Given the description of an element on the screen output the (x, y) to click on. 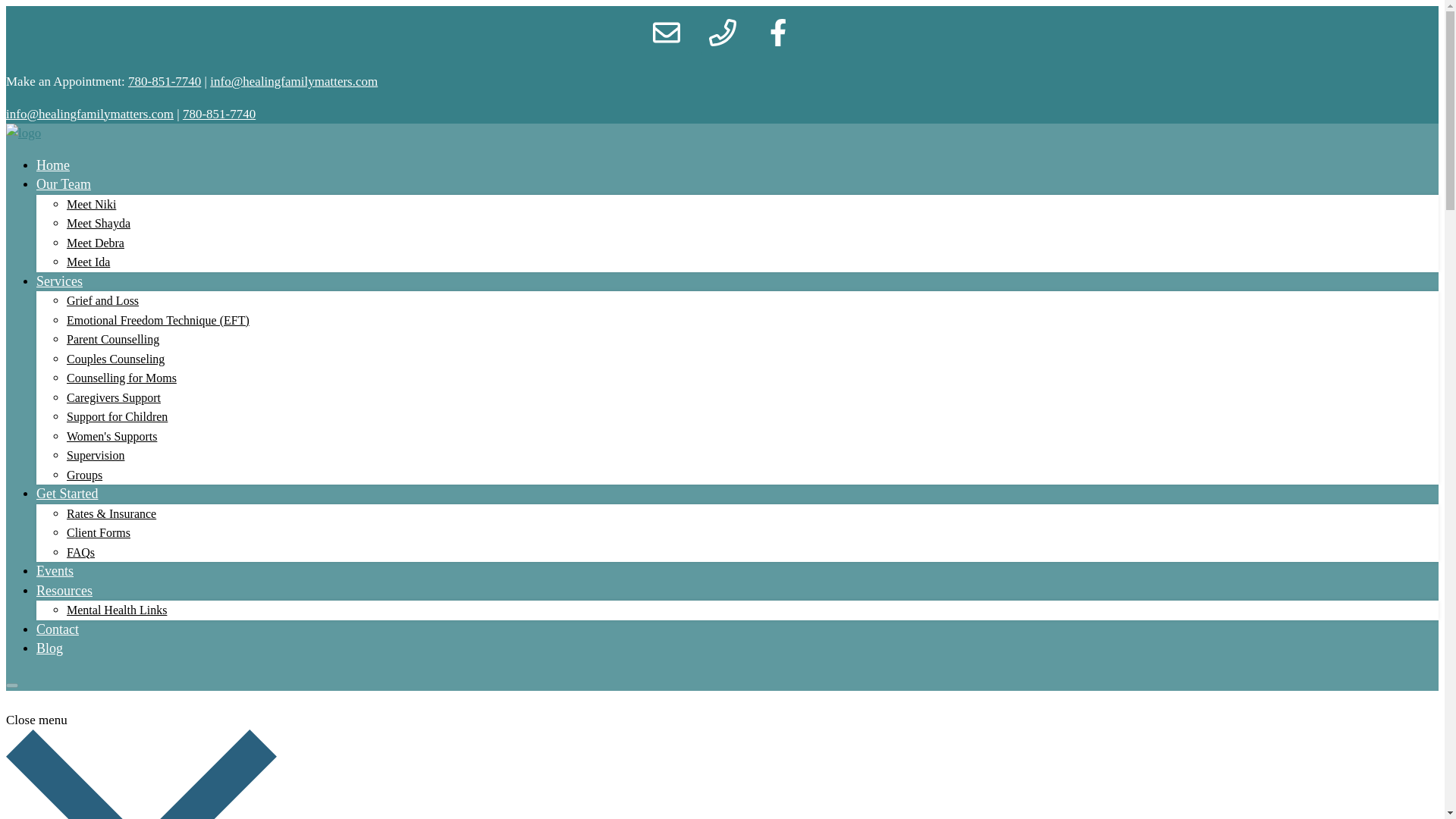
780-851-7740 (219, 113)
Contact (57, 629)
Meet Ida (88, 261)
Supervision (94, 454)
Meet Shayda (98, 223)
Counselling for Moms (121, 377)
Blog (49, 648)
Support for Children (116, 416)
Couples Counseling (115, 358)
Caregivers Support (113, 397)
Events (55, 570)
FAQs (80, 552)
Client Forms (98, 532)
Services (59, 280)
780-851-7740 (164, 81)
